Given the description of an element on the screen output the (x, y) to click on. 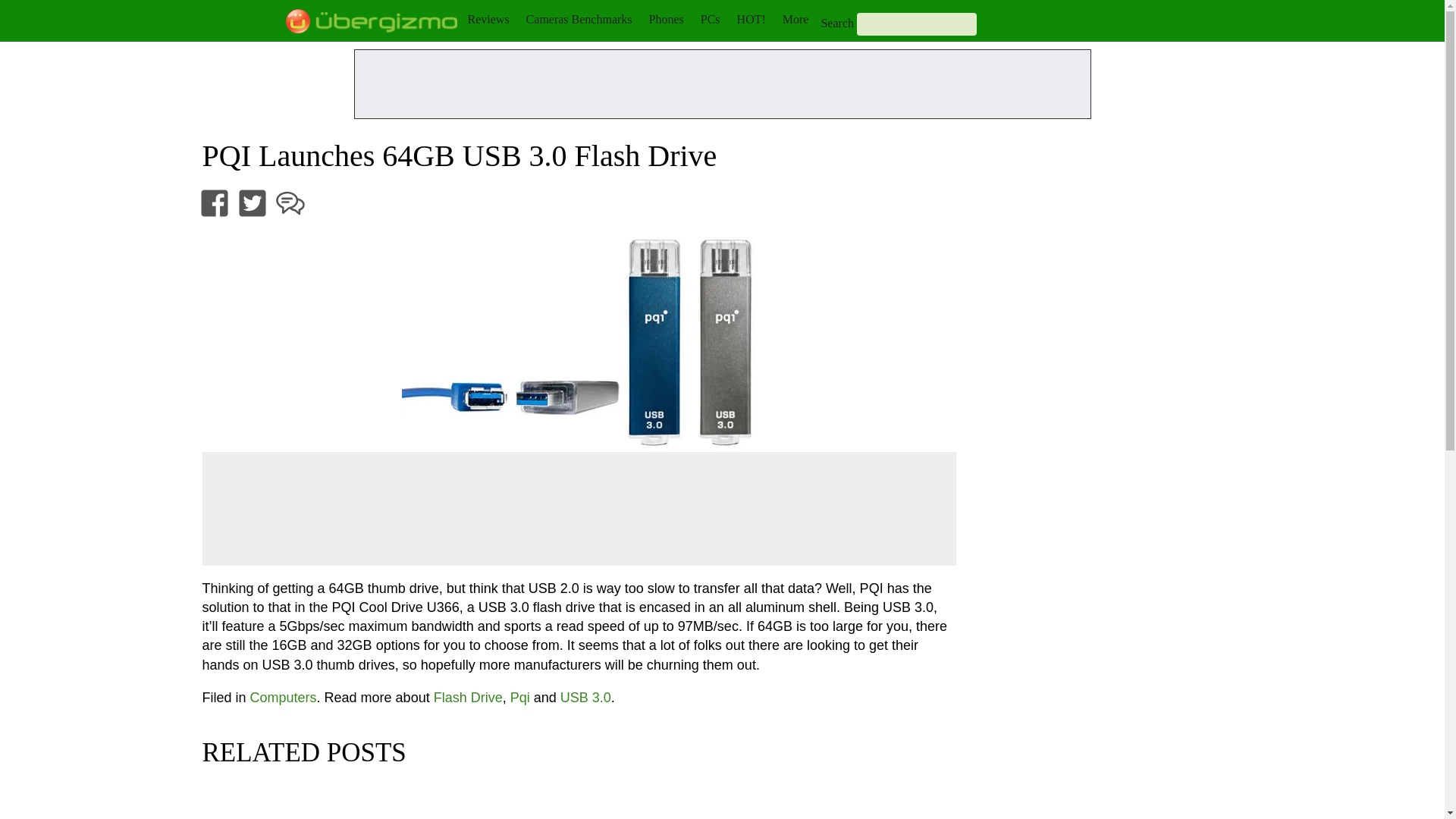
Reviews (487, 19)
Phones (666, 19)
PCs (710, 19)
PQI Launches 64GB USB 3.0 Flash Drive (579, 342)
Cameras Benchmarks (578, 19)
